Given the description of an element on the screen output the (x, y) to click on. 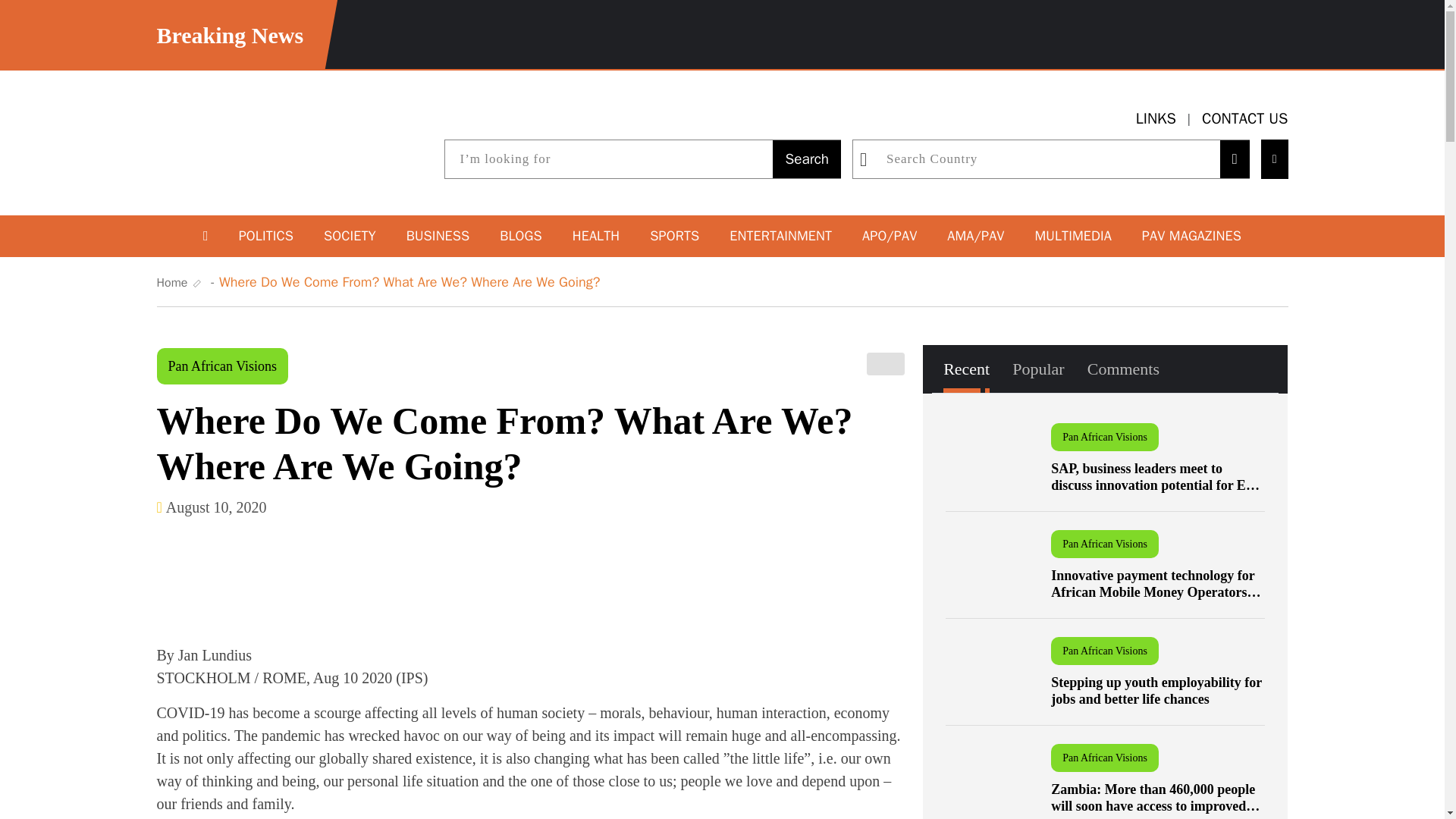
Search (807, 159)
CONTACT US (1245, 118)
LINKS (1155, 118)
Search (807, 159)
Search (807, 159)
